Given the description of an element on the screen output the (x, y) to click on. 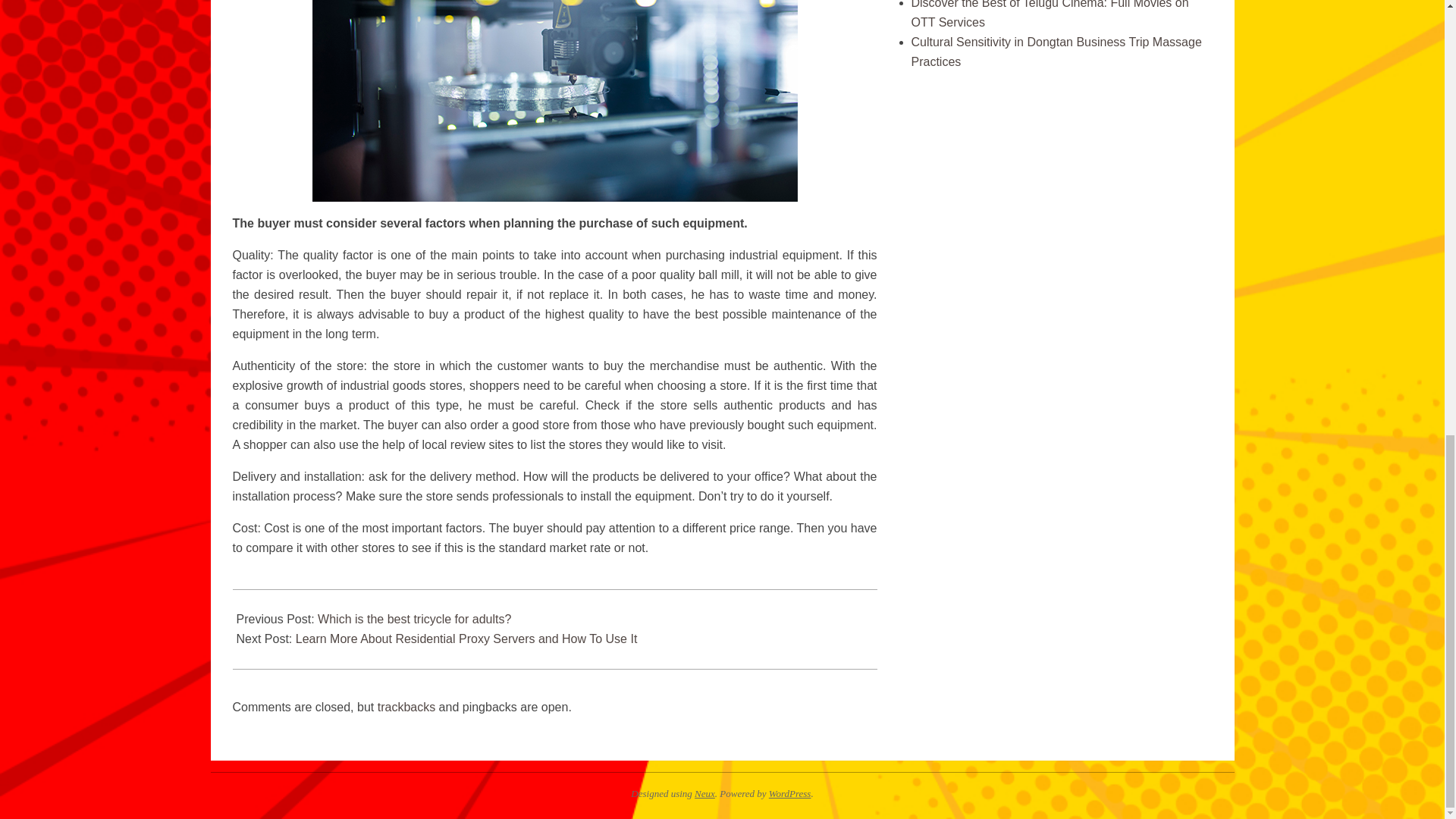
trackbacks (406, 707)
Neux WordPress Theme (704, 793)
Learn More About Residential Proxy Servers and How To Use It (466, 638)
Neux (704, 793)
Which is the best tricycle for adults? (414, 618)
WordPress (789, 793)
